Given the description of an element on the screen output the (x, y) to click on. 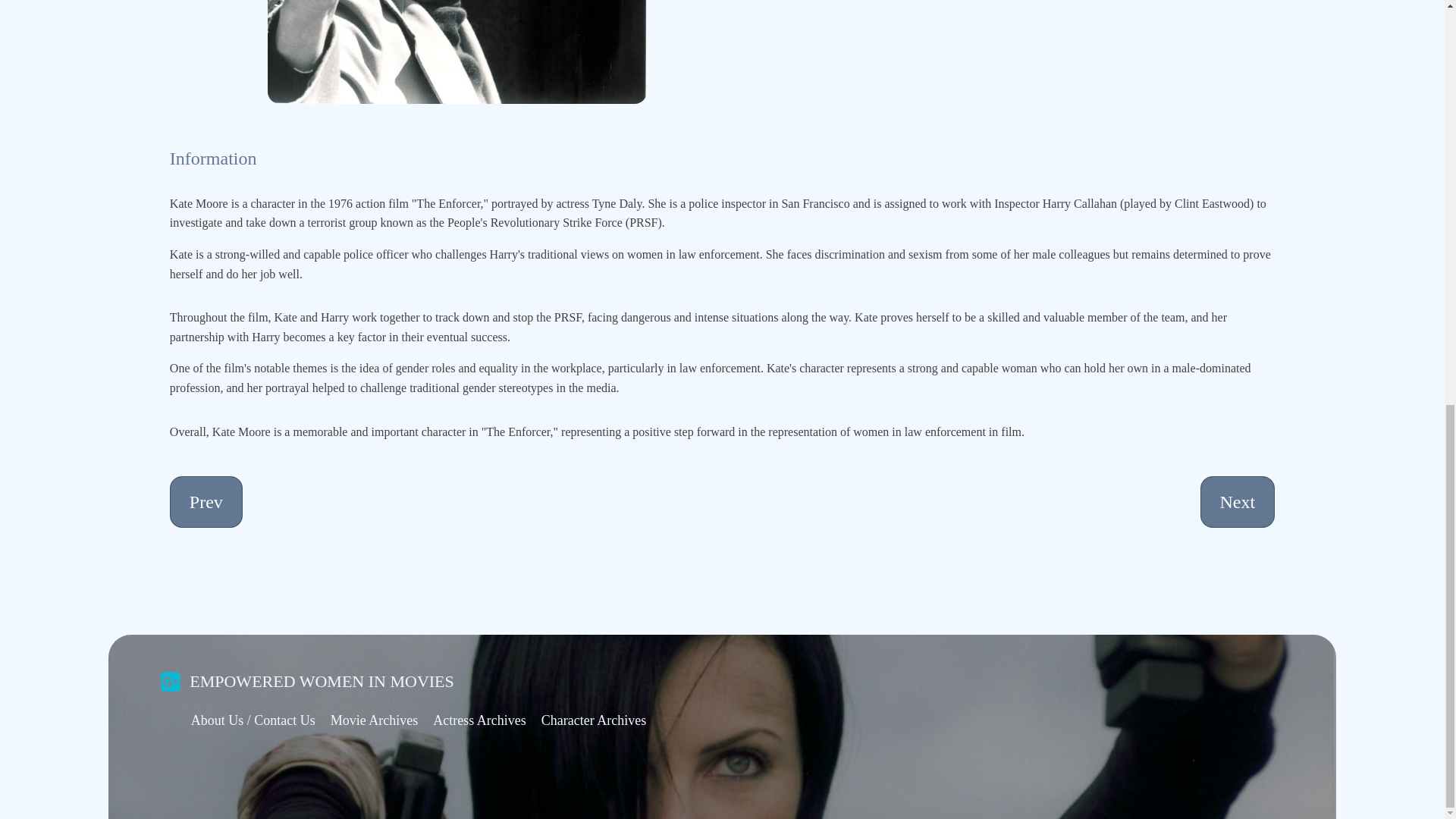
Next (1237, 501)
Character Archives (593, 720)
Prev (206, 501)
EMPOWERED WOMEN IN MOVIES (321, 681)
Movie Archives (374, 720)
Actress Archives (478, 720)
